Given the description of an element on the screen output the (x, y) to click on. 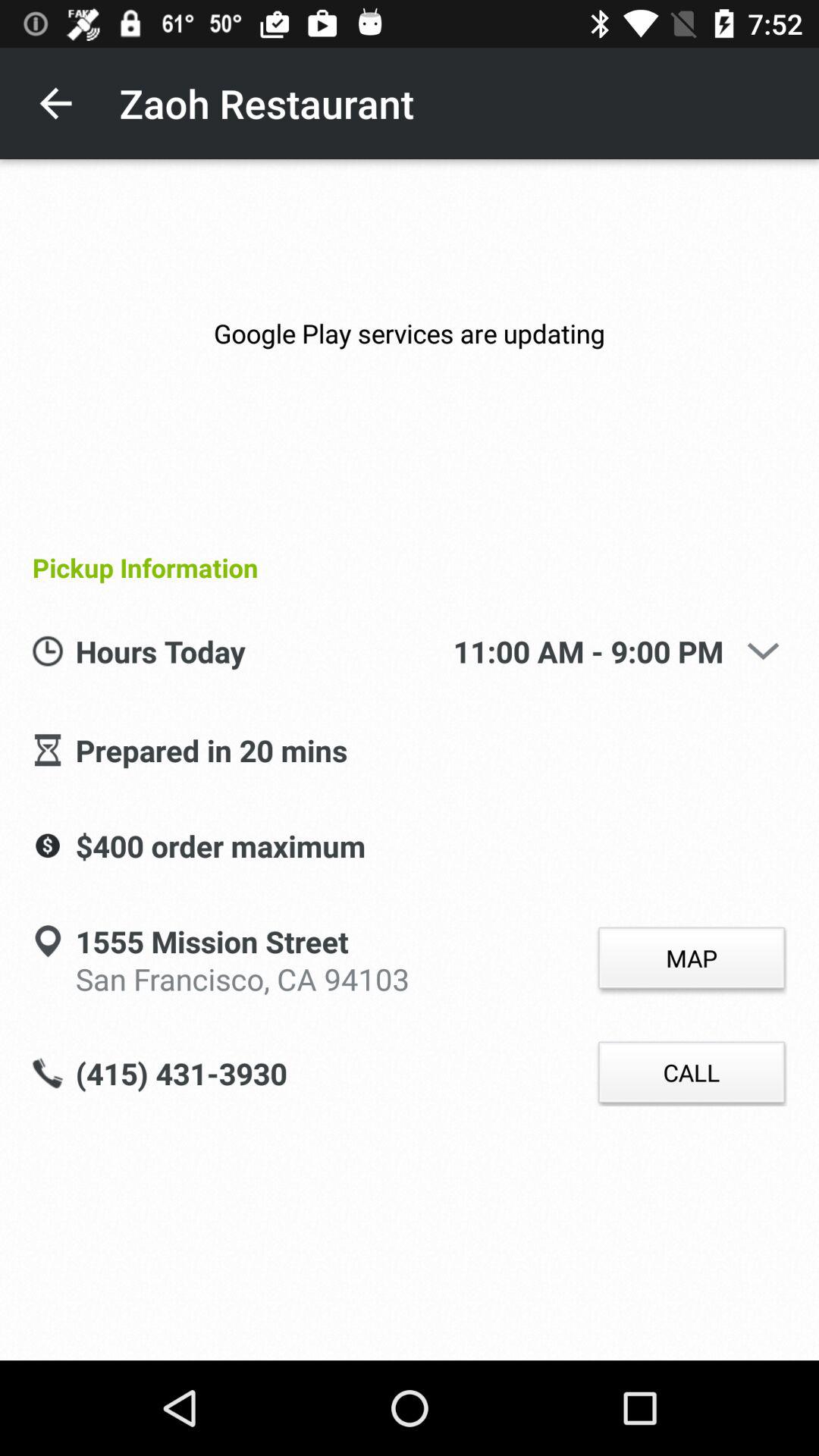
tap item below the $400 order maximum item (211, 942)
